Given the description of an element on the screen output the (x, y) to click on. 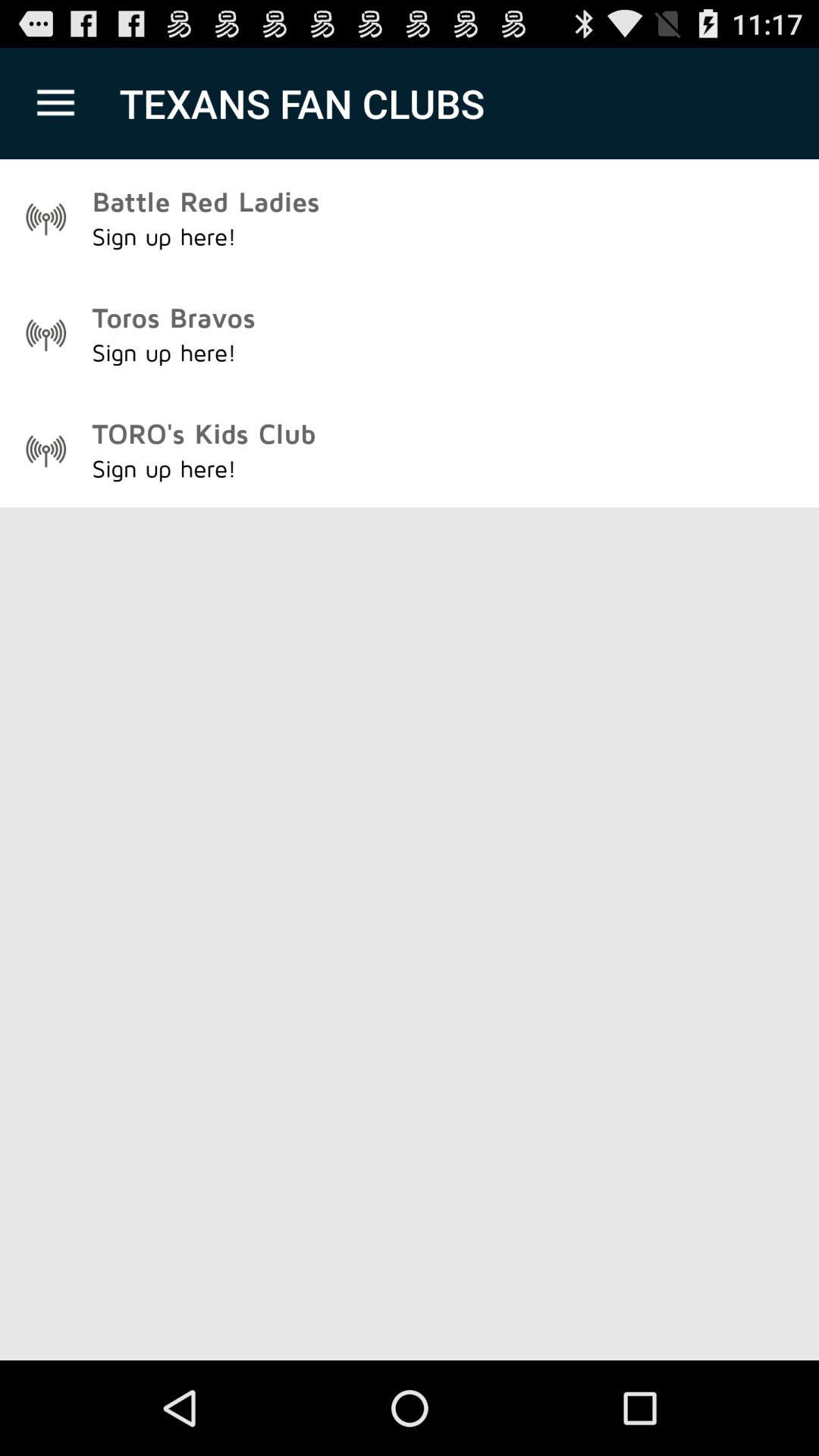
press the item to the left of the texans fan clubs icon (55, 103)
